Given the description of an element on the screen output the (x, y) to click on. 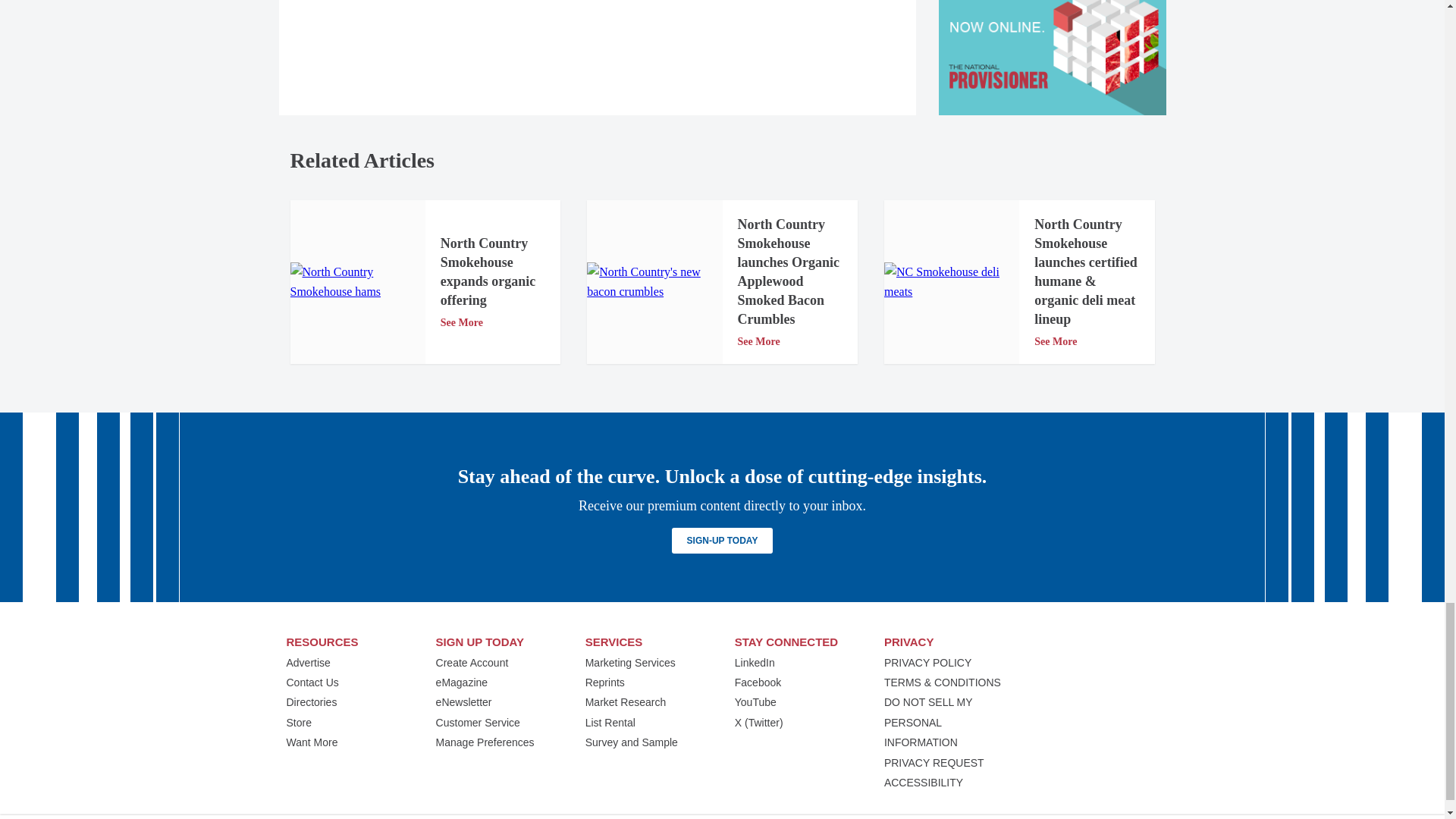
North Country Smokehouse hams (357, 282)
NC Smokehouse deli meats (951, 282)
North Country's new bacon crumbles (654, 282)
